Given the description of an element on the screen output the (x, y) to click on. 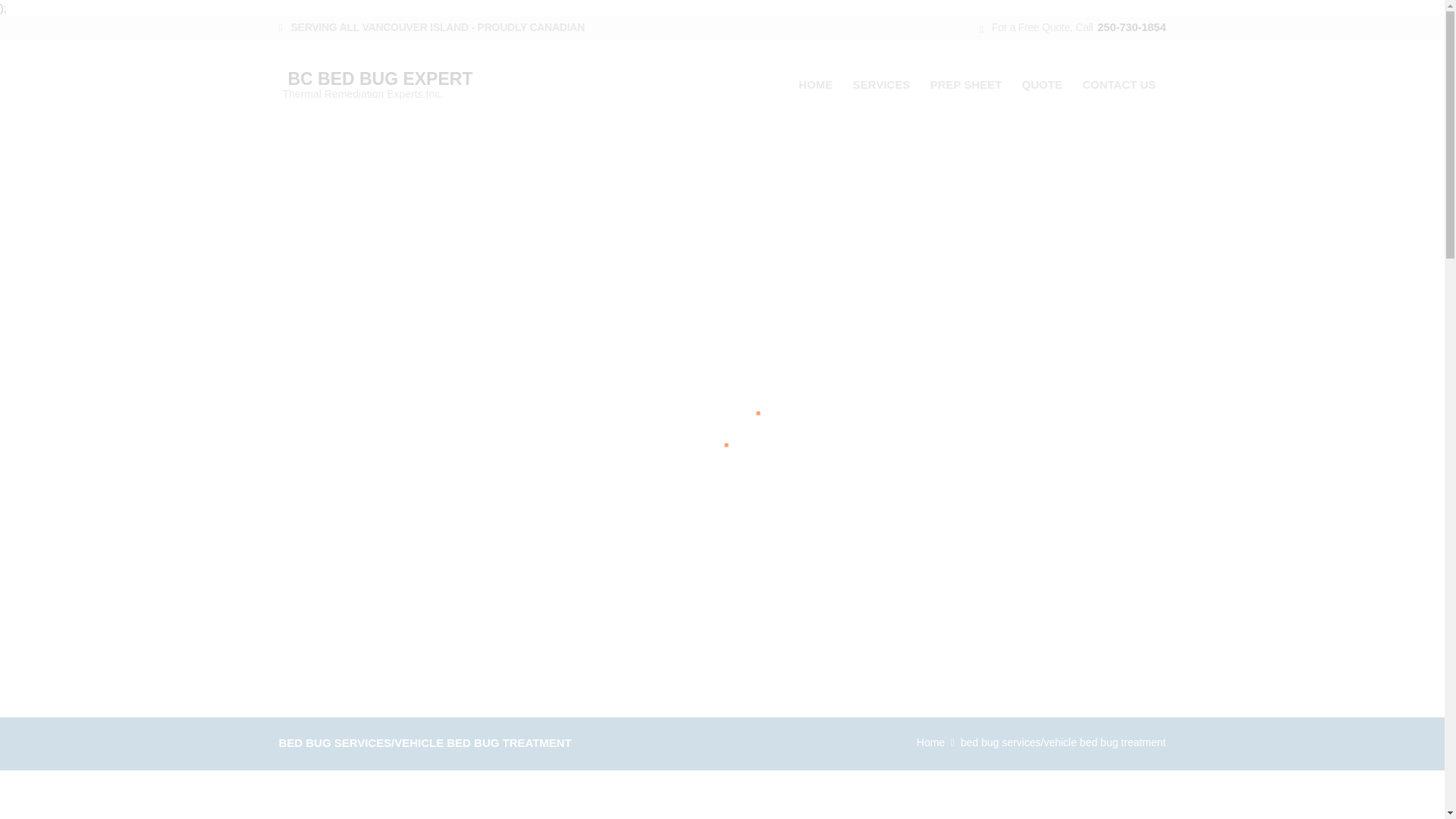
CONTACT US (1118, 84)
Home (395, 81)
PREP SHEET (930, 742)
HOME (965, 84)
SERVICES (816, 84)
QUOTE (881, 84)
